Given the description of an element on the screen output the (x, y) to click on. 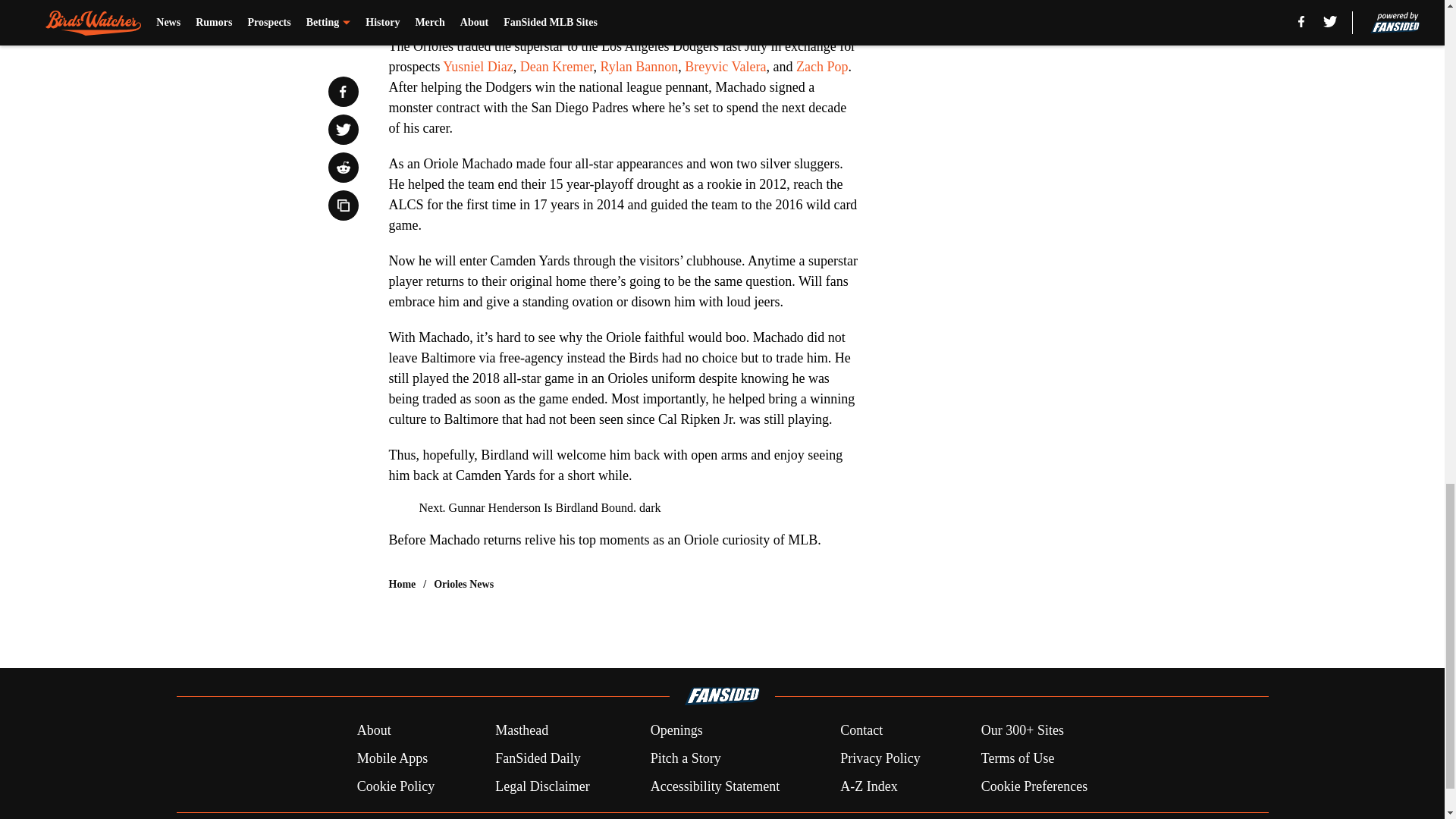
Masthead (521, 730)
Mobile Apps (392, 758)
Zach Pop (821, 66)
About (373, 730)
Manny Machado (434, 10)
Pitch a Story (685, 758)
FanSided Daily (537, 758)
 Dean Kremer (554, 66)
Yusniel Diaz (477, 66)
Contact (861, 730)
Openings (676, 730)
Rylan Bannon (638, 66)
Legal Disclaimer (542, 786)
Privacy Policy (880, 758)
Breyvic Valera (724, 66)
